Given the description of an element on the screen output the (x, y) to click on. 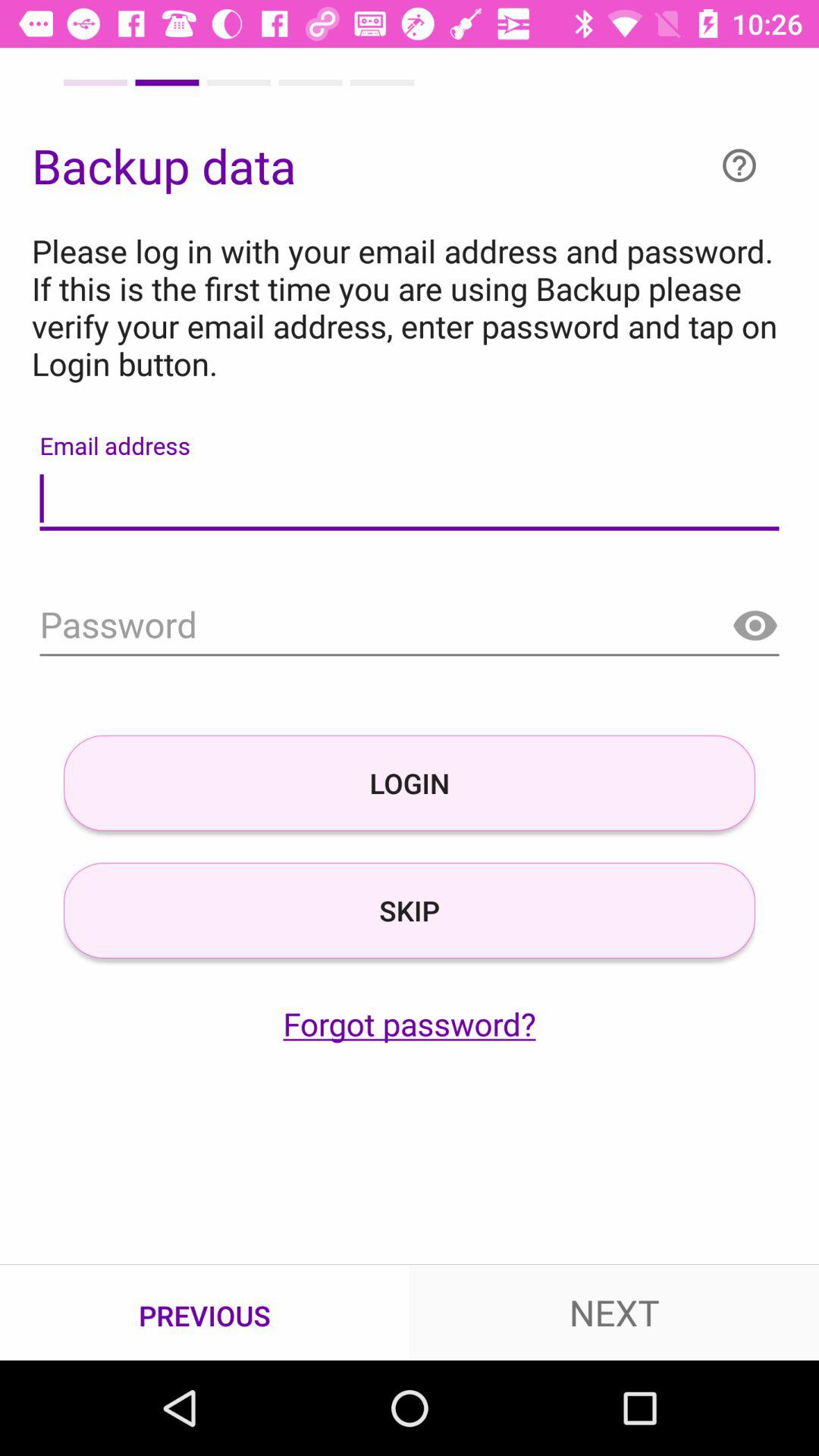
go to search option (409, 626)
